Given the description of an element on the screen output the (x, y) to click on. 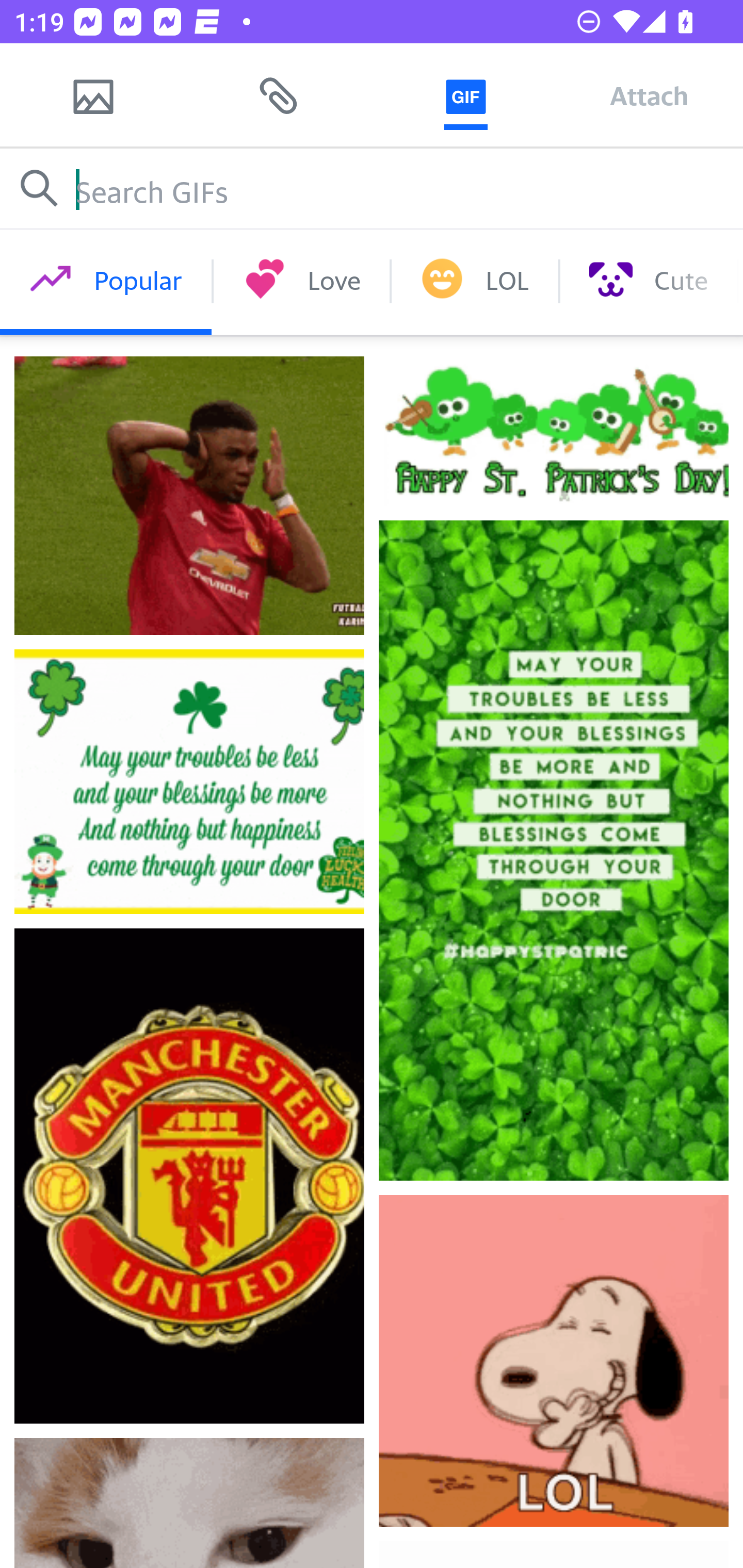
Camera photos (93, 95)
Recent attachments from mail (279, 95)
GIFs (465, 95)
Attach (649, 95)
Search GIFs (371, 187)
Popular (105, 280)
Love (301, 280)
LOL (474, 280)
Cute (648, 280)
